Given the description of an element on the screen output the (x, y) to click on. 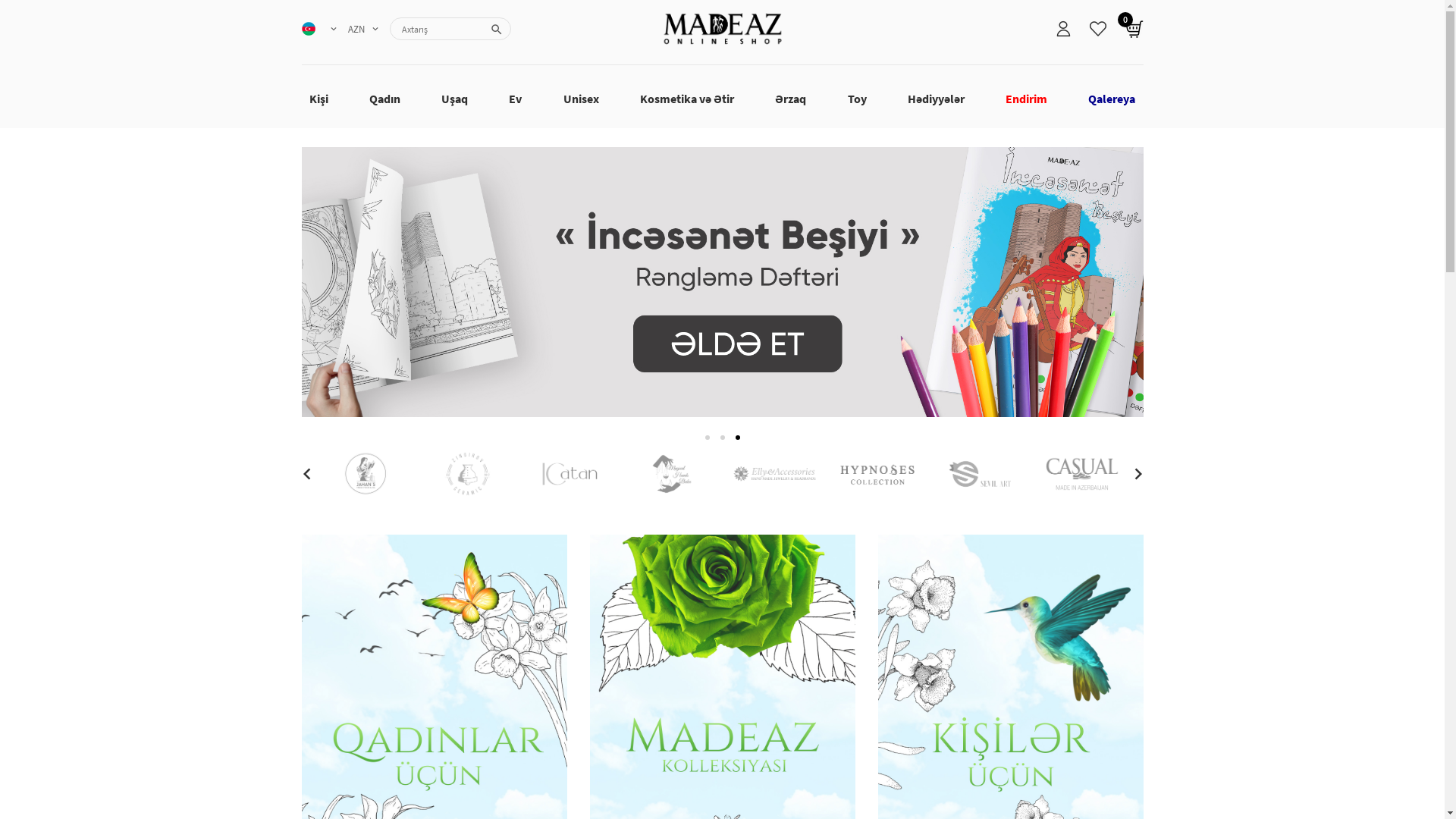
Unisex Element type: text (580, 98)
Qalereya Element type: text (1111, 98)
Toy Element type: text (857, 98)
Ev Element type: text (515, 98)
Endirim Element type: text (1025, 98)
